Given the description of an element on the screen output the (x, y) to click on. 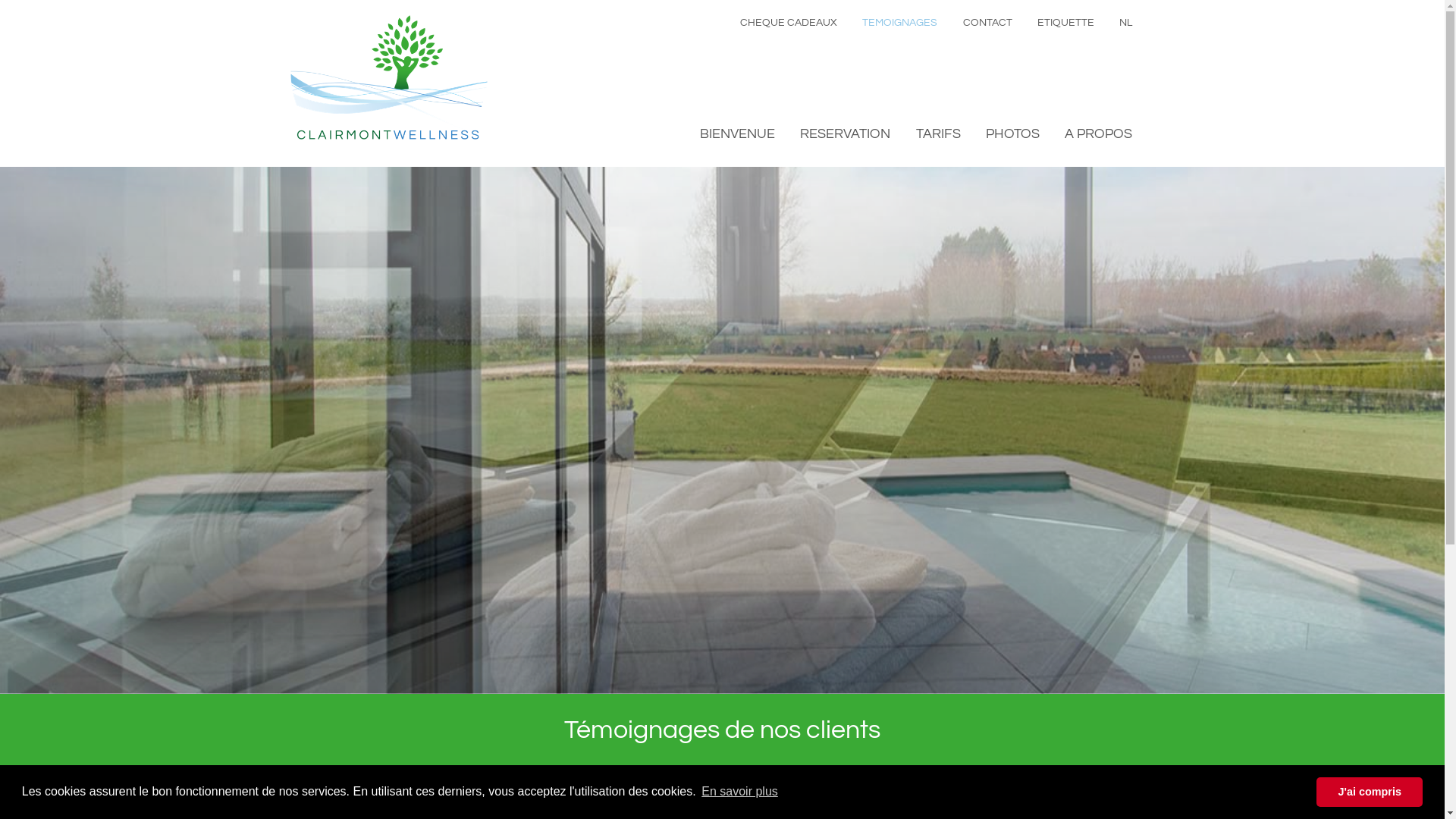
ETIQUETTE Element type: text (1065, 22)
PHOTOS Element type: text (1012, 133)
TEMOIGNAGES Element type: text (899, 22)
CONTACT Element type: text (987, 22)
CHEQUE CADEAUX Element type: text (788, 22)
RESERVATION Element type: text (845, 133)
TARIFS Element type: text (938, 133)
BIENVENUE Element type: text (737, 133)
En savoir plus Element type: text (739, 791)
NL Element type: text (1125, 22)
J'ai compris Element type: text (1369, 791)
A PROPOS Element type: text (1098, 133)
